Given the description of an element on the screen output the (x, y) to click on. 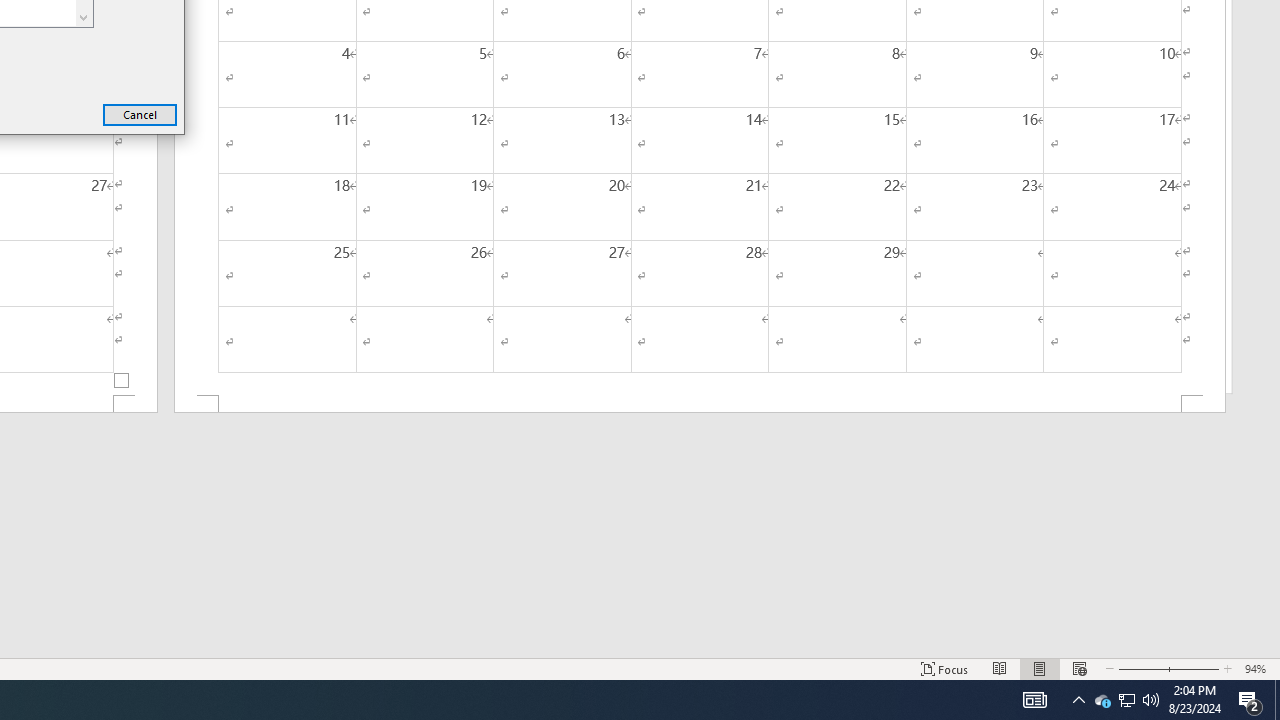
Show desktop (1277, 699)
User Promoted Notification Area (1126, 699)
Cancel (1126, 699)
